Given the description of an element on the screen output the (x, y) to click on. 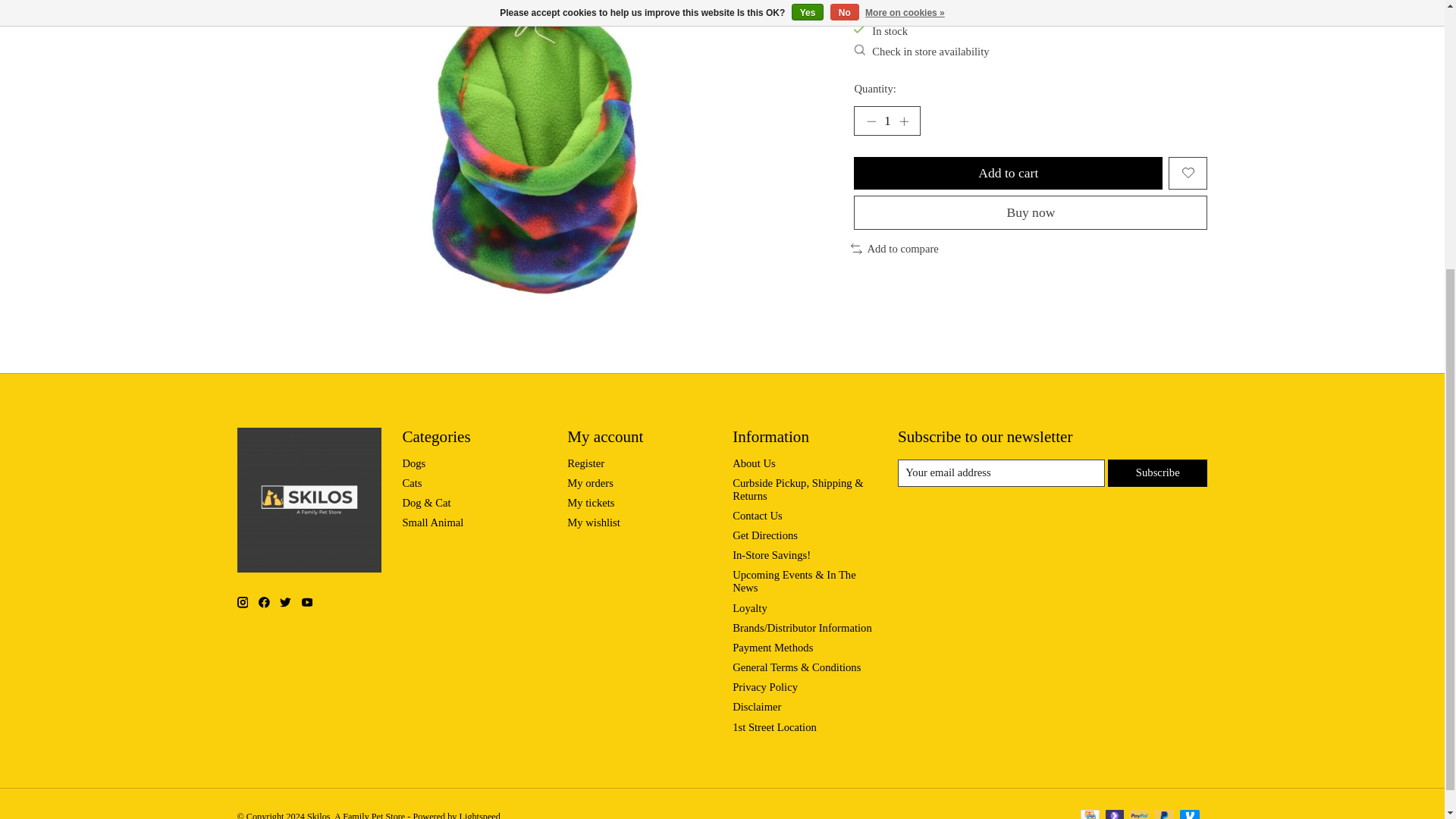
Get Directions (764, 535)
My wishlist (593, 522)
About Us (754, 463)
In-Store Savings! (771, 554)
My orders (589, 482)
Register (585, 463)
1 (886, 121)
Contact Us (757, 515)
My tickets (590, 502)
